Given the description of an element on the screen output the (x, y) to click on. 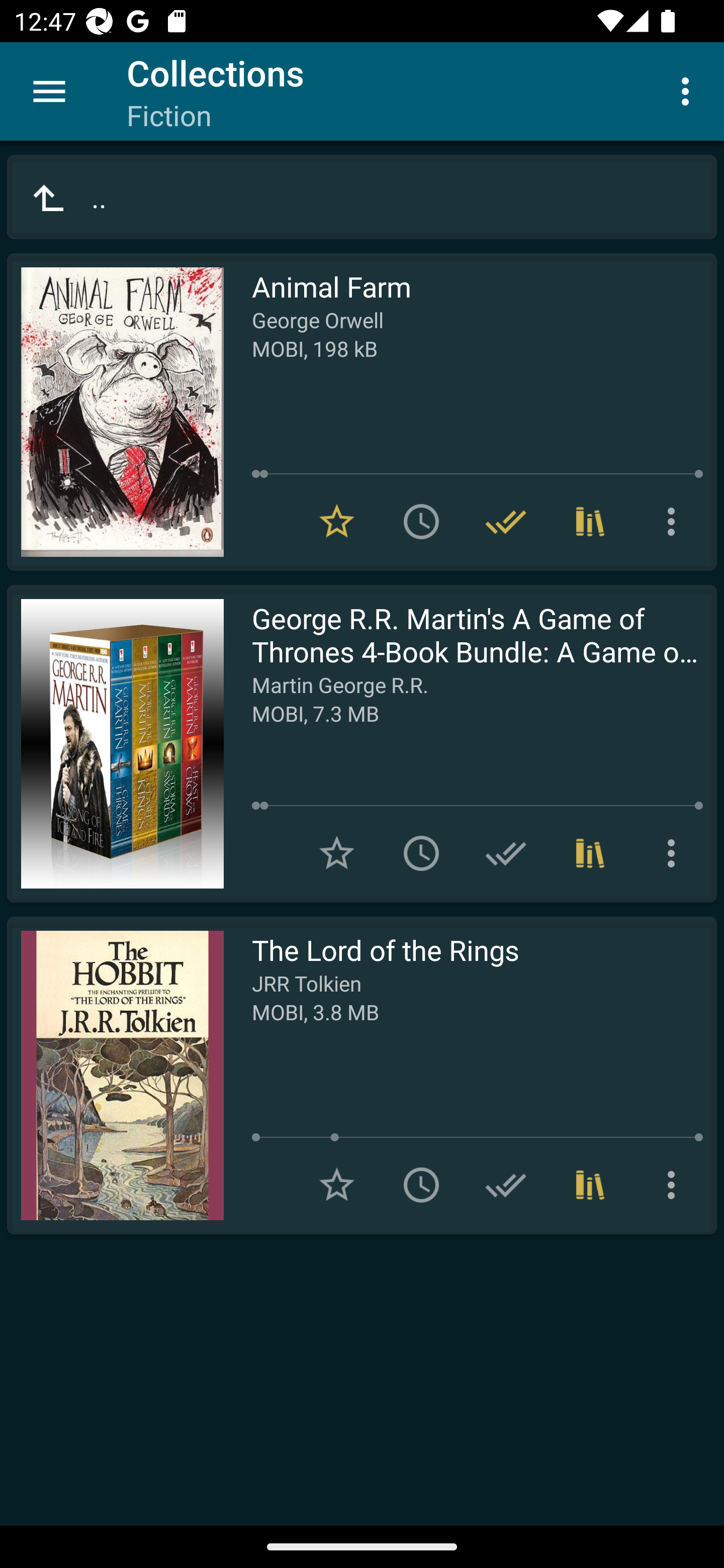
Menu (49, 91)
More options (688, 90)
.. (361, 197)
Read Animal Farm (115, 412)
Remove from Favorites (336, 521)
Add to To read (421, 521)
Remove from Have read (505, 521)
Collections (2) (590, 521)
More options (674, 521)
Add to Favorites (336, 852)
Add to To read (421, 852)
Add to Have read (505, 852)
Collections (1) (590, 852)
More options (674, 852)
Read The Lord of the Rings (115, 1075)
Add to Favorites (336, 1185)
Add to To read (421, 1185)
Add to Have read (505, 1185)
Collections (1) (590, 1185)
More options (674, 1185)
